Given the description of an element on the screen output the (x, y) to click on. 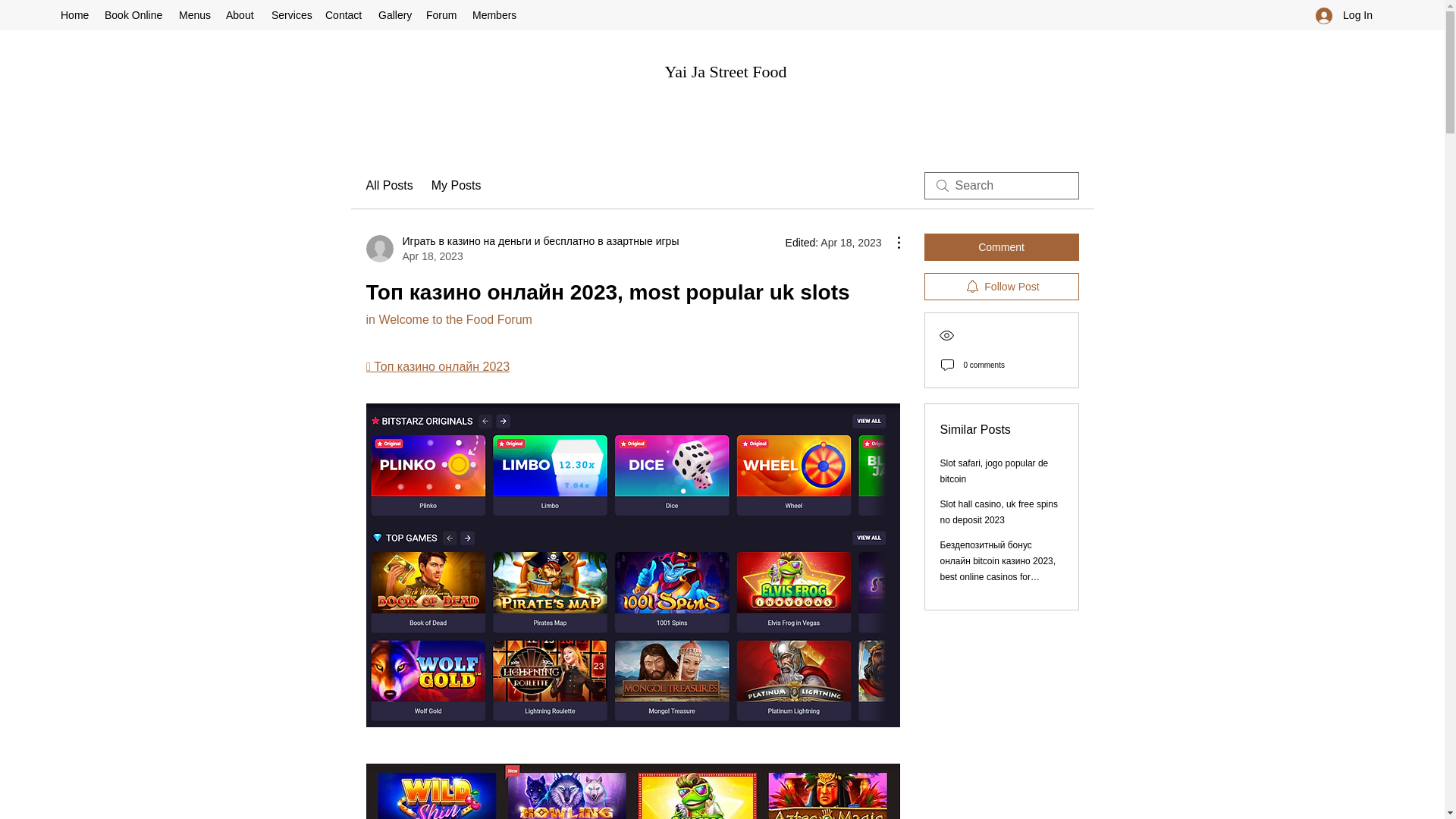
Gallery (395, 15)
Forum (441, 15)
Log In (1343, 15)
in Welcome to the Food Forum (448, 318)
Yai Ja Street Food (726, 71)
Follow Post (1000, 286)
Members (494, 15)
Home (74, 15)
Slot hall casino, uk free spins no deposit 2023 (999, 511)
All Posts (388, 185)
